Given the description of an element on the screen output the (x, y) to click on. 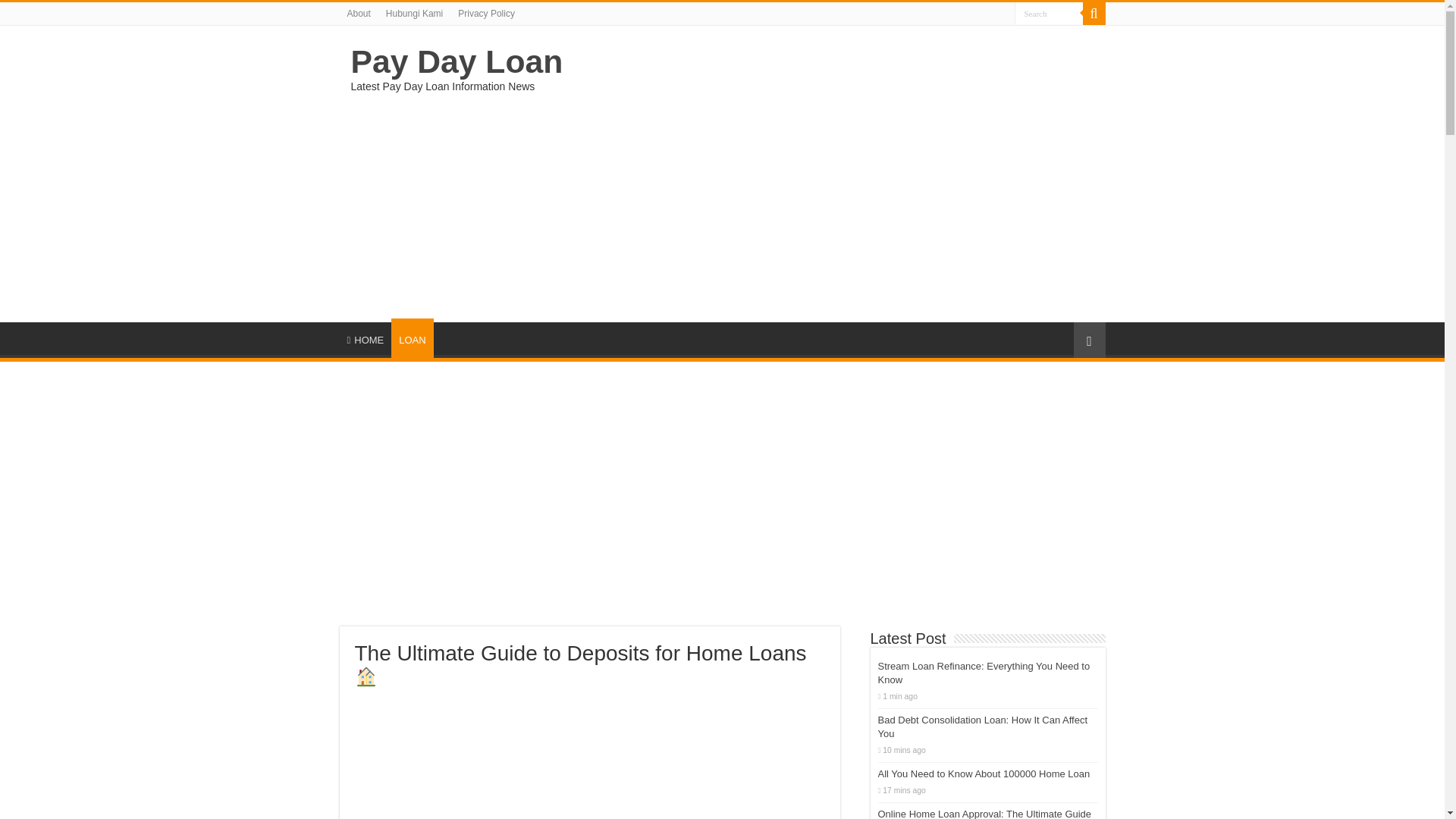
HOME (365, 337)
Advertisement (817, 201)
All You Need to Know About 100000 Home Loan (983, 773)
Search (1048, 13)
Privacy Policy (485, 13)
Search (1048, 13)
Online Home Loan Approval: The Ultimate Guide (984, 813)
Bad Debt Consolidation Loan: How It Can Affect You (982, 726)
Hubungi Kami (413, 13)
LOAN (411, 337)
